Given the description of an element on the screen output the (x, y) to click on. 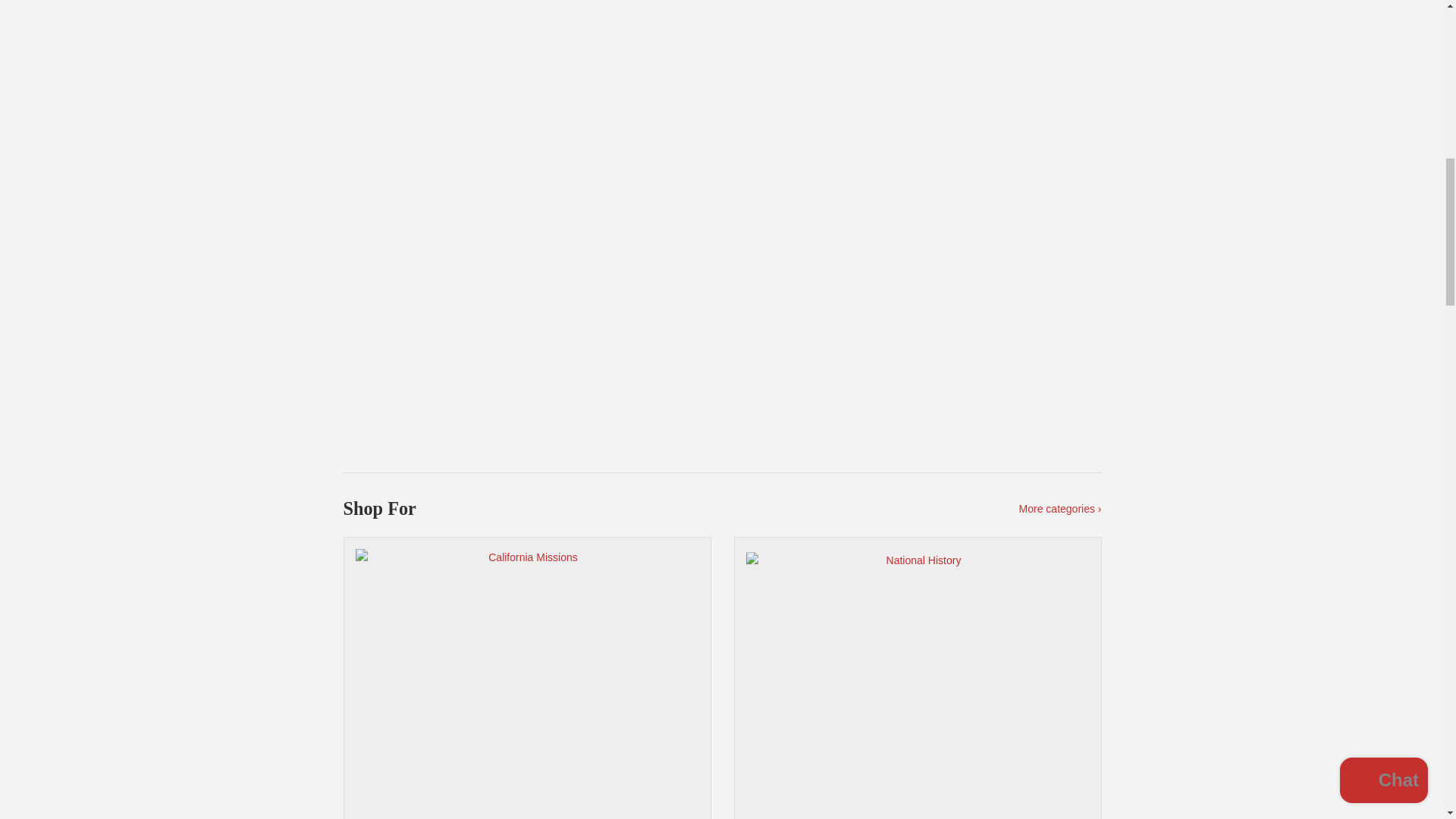
Browse our California Missions collection (526, 678)
California Missions (526, 678)
Browse our National History collection (917, 678)
National History (917, 678)
